Given the description of an element on the screen output the (x, y) to click on. 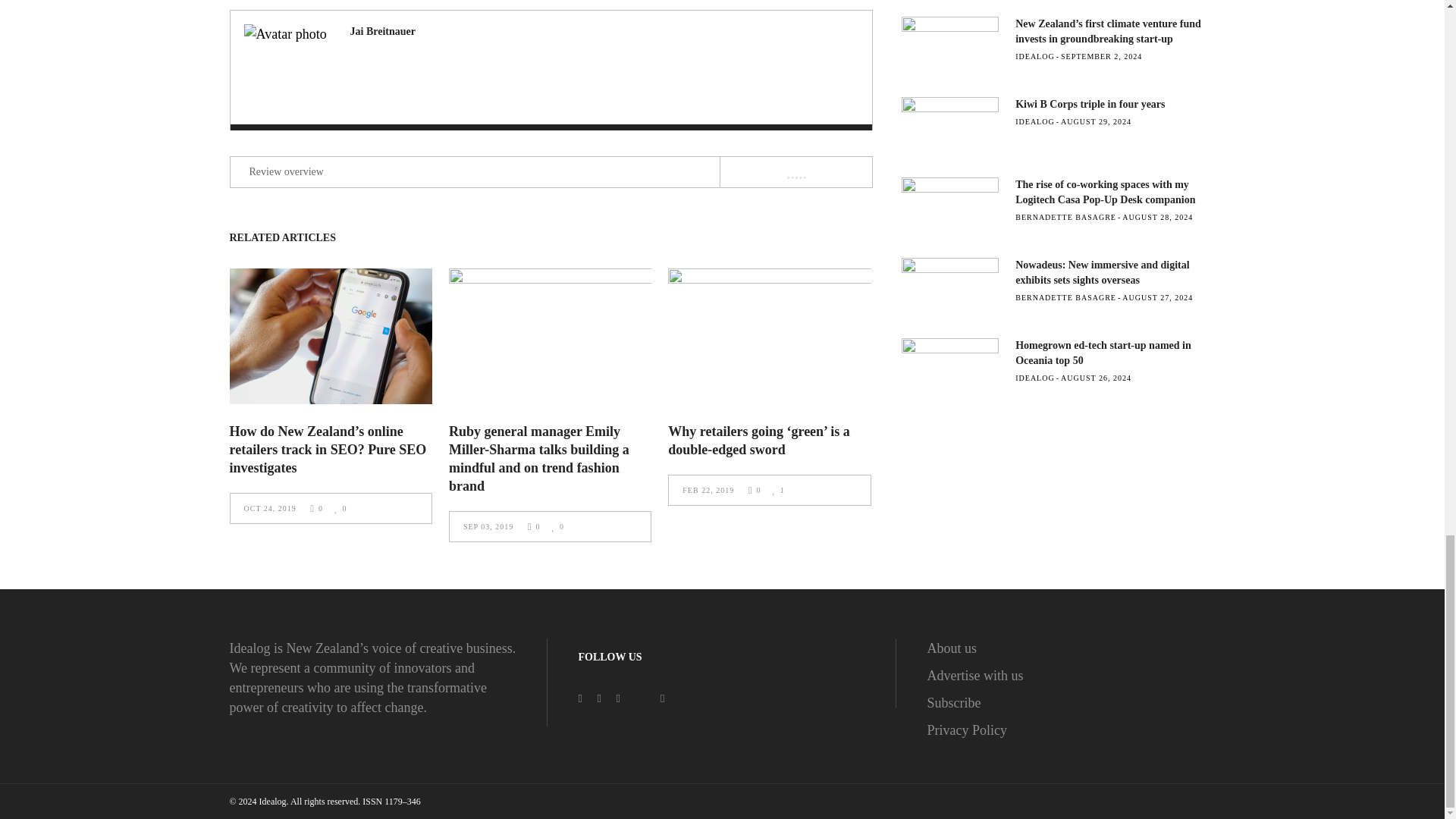
Jai Breitnauer (382, 30)
Is fast fashion ruining the op-shop? (287, 67)
OCT 24, 2019 (271, 508)
Like this (557, 526)
Like this (340, 508)
Is fast fashion ruining the op-shop? (382, 30)
